Given the description of an element on the screen output the (x, y) to click on. 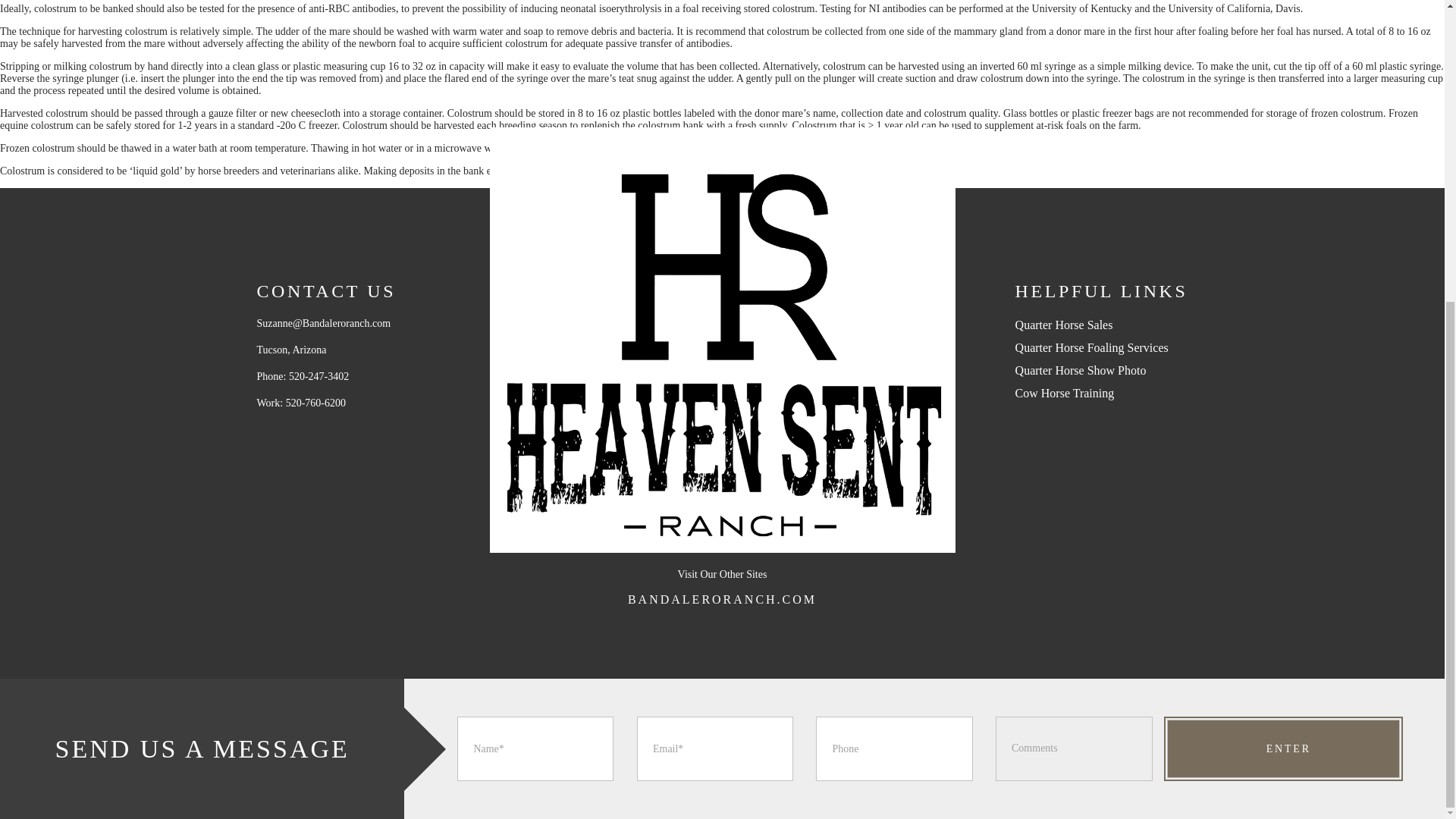
520-760-6200 (315, 402)
Enter (1283, 748)
520-247-3402 (318, 376)
Cow Horse Training (1064, 392)
Enter (1283, 748)
Quarter Horse Sales (1063, 324)
Quarter Horse Foaling Services (1091, 347)
Quarter Horse Show Photo (1080, 369)
BANDALERORANCH.COM (721, 599)
